Given the description of an element on the screen output the (x, y) to click on. 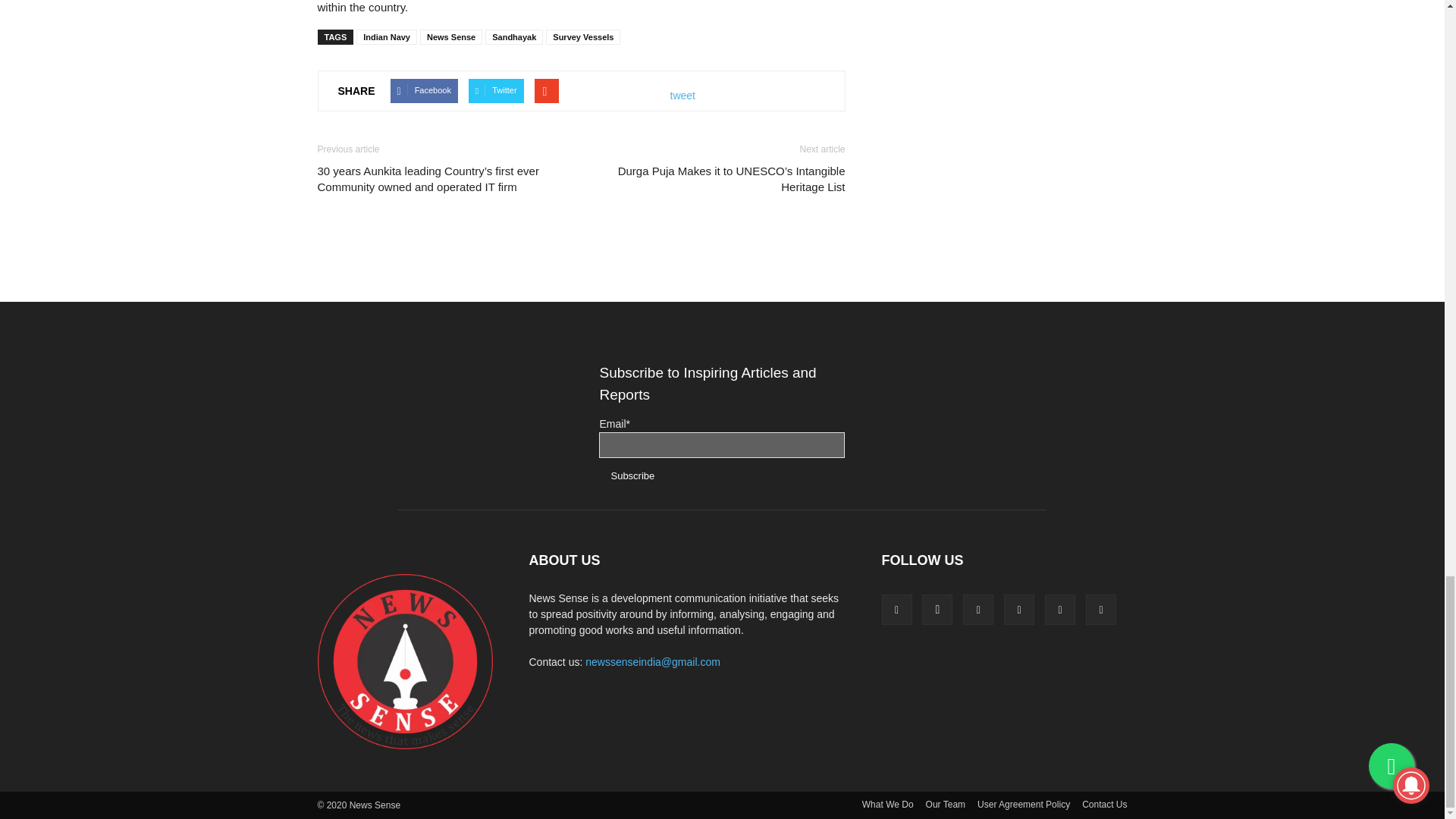
Subscribe (631, 475)
